Given the description of an element on the screen output the (x, y) to click on. 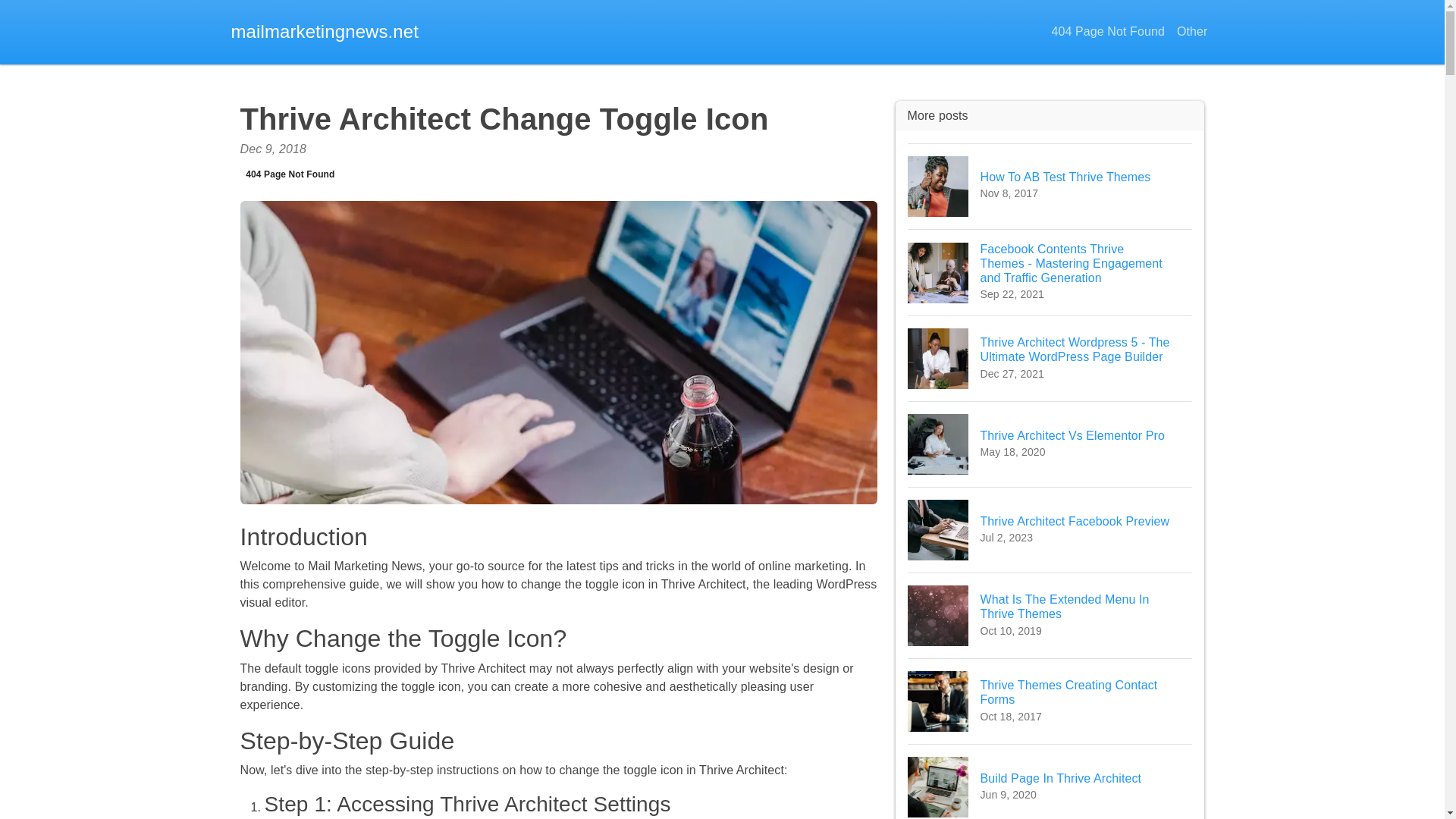
404 Page Not Found (1049, 781)
Other (1107, 32)
mailmarketingnews.net (1192, 32)
404 Page Not Found (1049, 186)
